Given the description of an element on the screen output the (x, y) to click on. 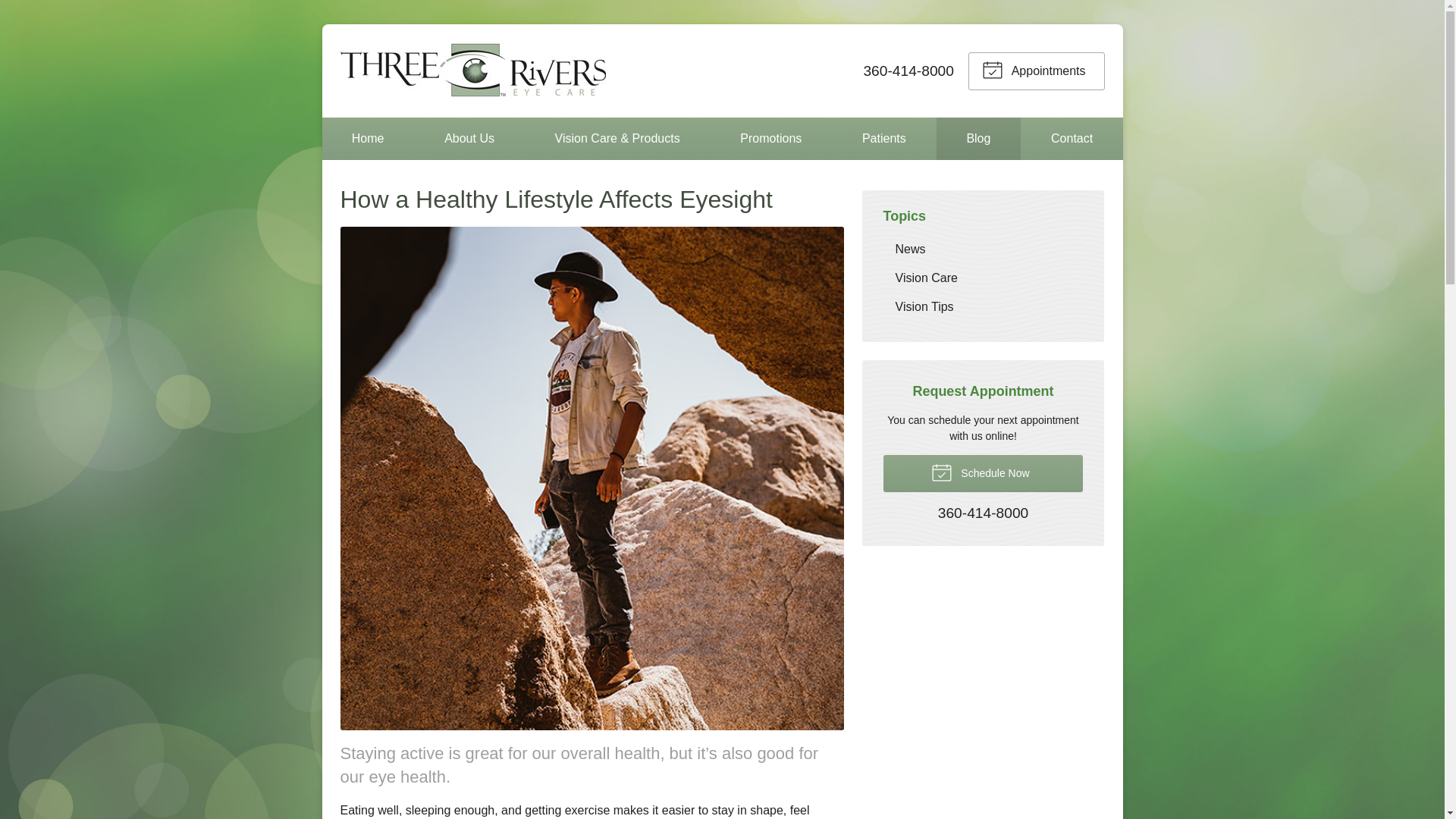
Home (367, 138)
Contact (1072, 138)
Three Rivers Eye Care (472, 70)
Promotions (770, 138)
About Us (469, 138)
Patients (884, 138)
Vision Care (982, 277)
Call practice (908, 69)
Vision Tips (982, 306)
Request Appointment (1035, 70)
Blog (978, 138)
360-414-8000 (908, 69)
Call practice (983, 513)
Appointments (1035, 70)
Schedule Now (982, 473)
